Given the description of an element on the screen output the (x, y) to click on. 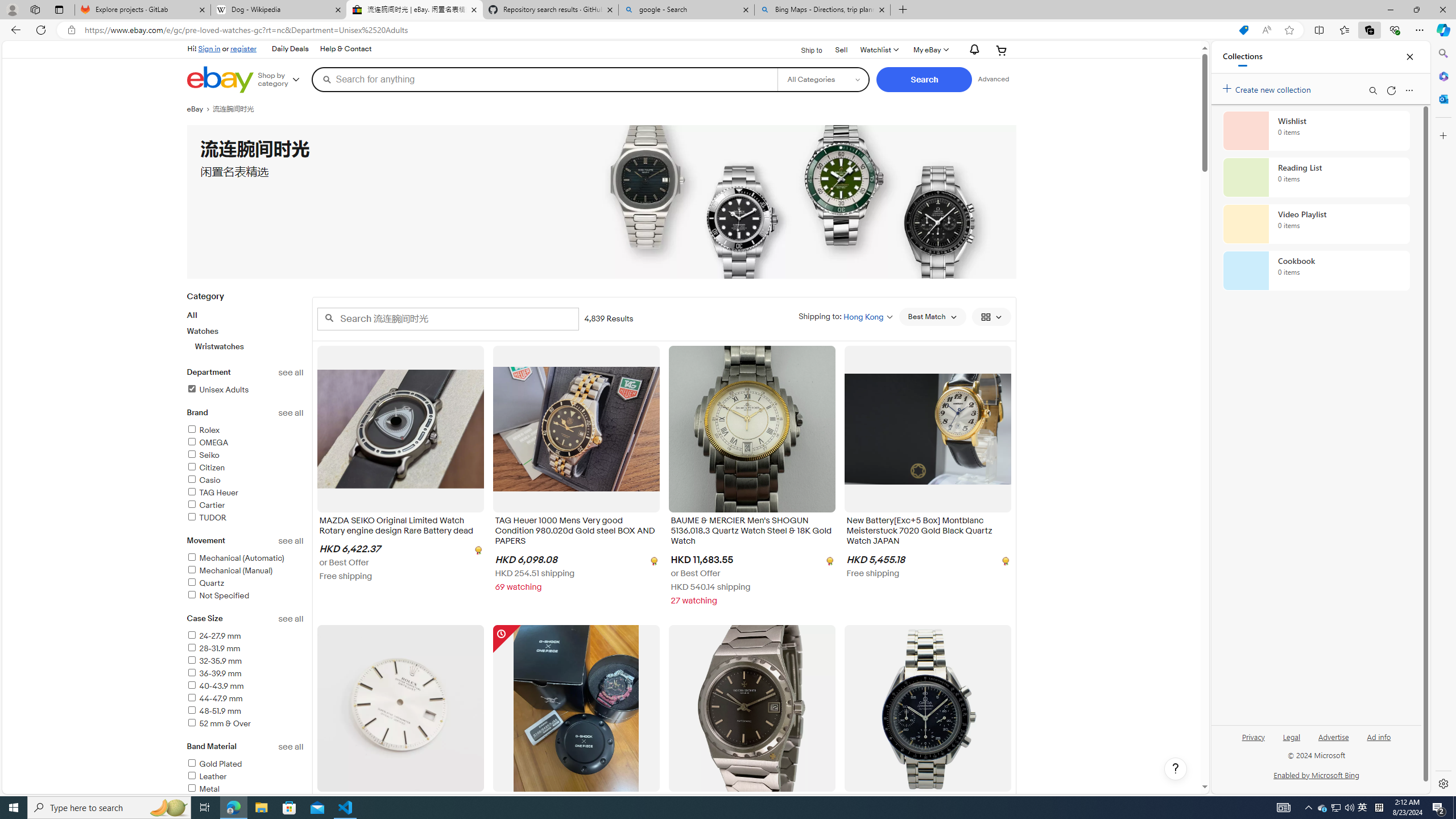
Gold Plated (245, 764)
OMEGA (207, 442)
40-43.9 mm (245, 686)
Ship to (804, 49)
Rolex (202, 429)
Expand Cart (1001, 49)
